Given the description of an element on the screen output the (x, y) to click on. 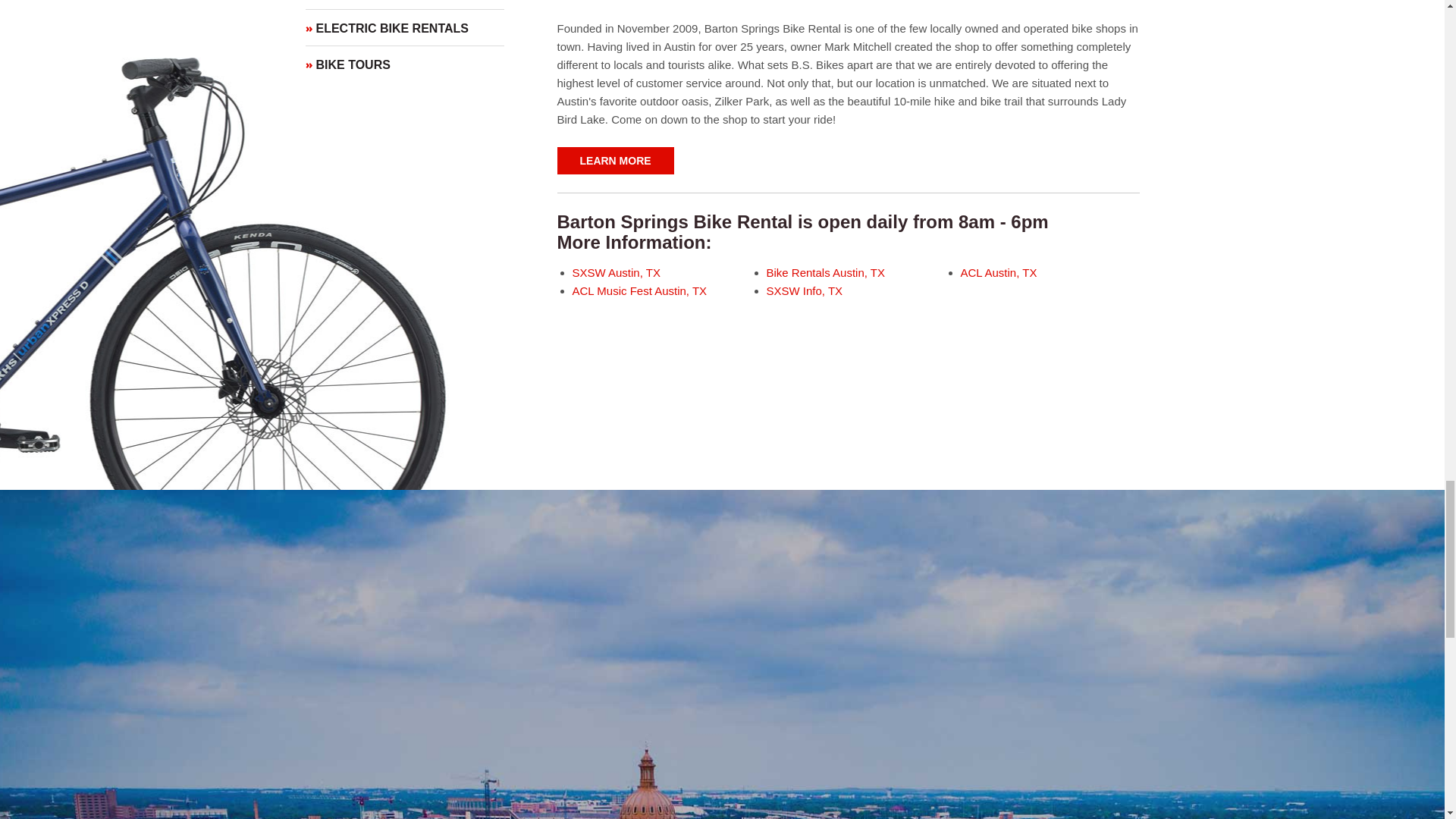
SXSW Austin, TX (615, 272)
BIKE RENTALS (403, 4)
BIKE TOURS (403, 63)
ELECTRIC BIKE RENTALS (403, 27)
Bike Rentals Austin, TX (824, 272)
ACL Music Fest Austin, TX (639, 290)
LEARN MORE (614, 160)
